Given the description of an element on the screen output the (x, y) to click on. 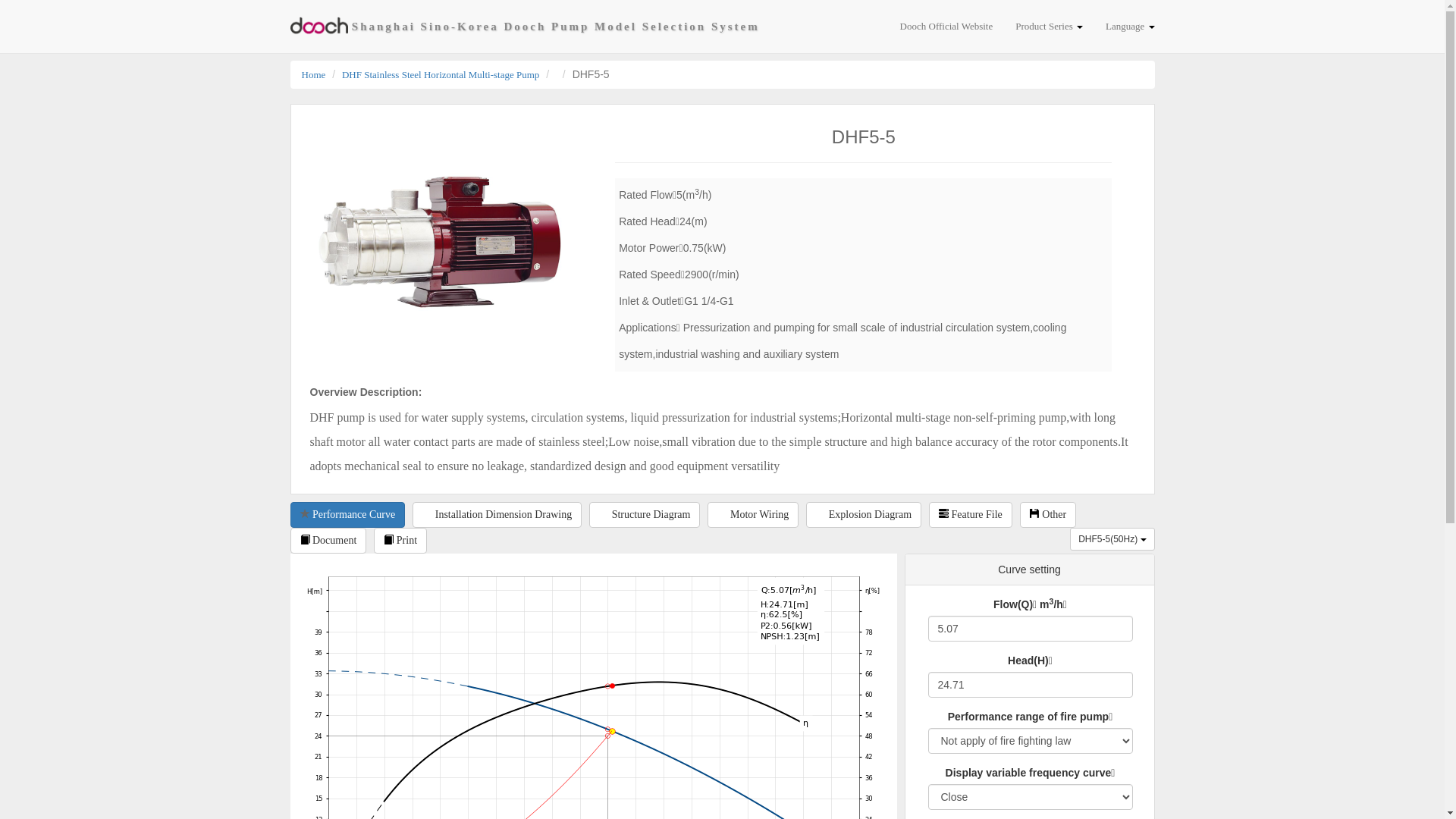
Performance Curve Element type: text (346, 514)
Home Element type: text (313, 74)
DHF5-5(50Hz) Element type: text (1112, 538)
Shanghai Sino-Korea Dooch Pump Model Selection System Element type: text (524, 26)
Other Element type: text (1047, 514)
Explosion Diagram Element type: text (863, 514)
Installation Dimension Drawing Element type: text (496, 514)
Dooch Official Website Element type: text (946, 26)
Feature File Element type: text (970, 514)
Motor Wiring Element type: text (752, 514)
Print Element type: text (399, 540)
Product Series Element type: text (1049, 26)
DHF Stainless Steel Horizontal Multi-stage Pump Element type: text (440, 74)
Structure Diagram Element type: text (644, 514)
Document Element type: text (327, 540)
Language Element type: text (1130, 26)
